Given the description of an element on the screen output the (x, y) to click on. 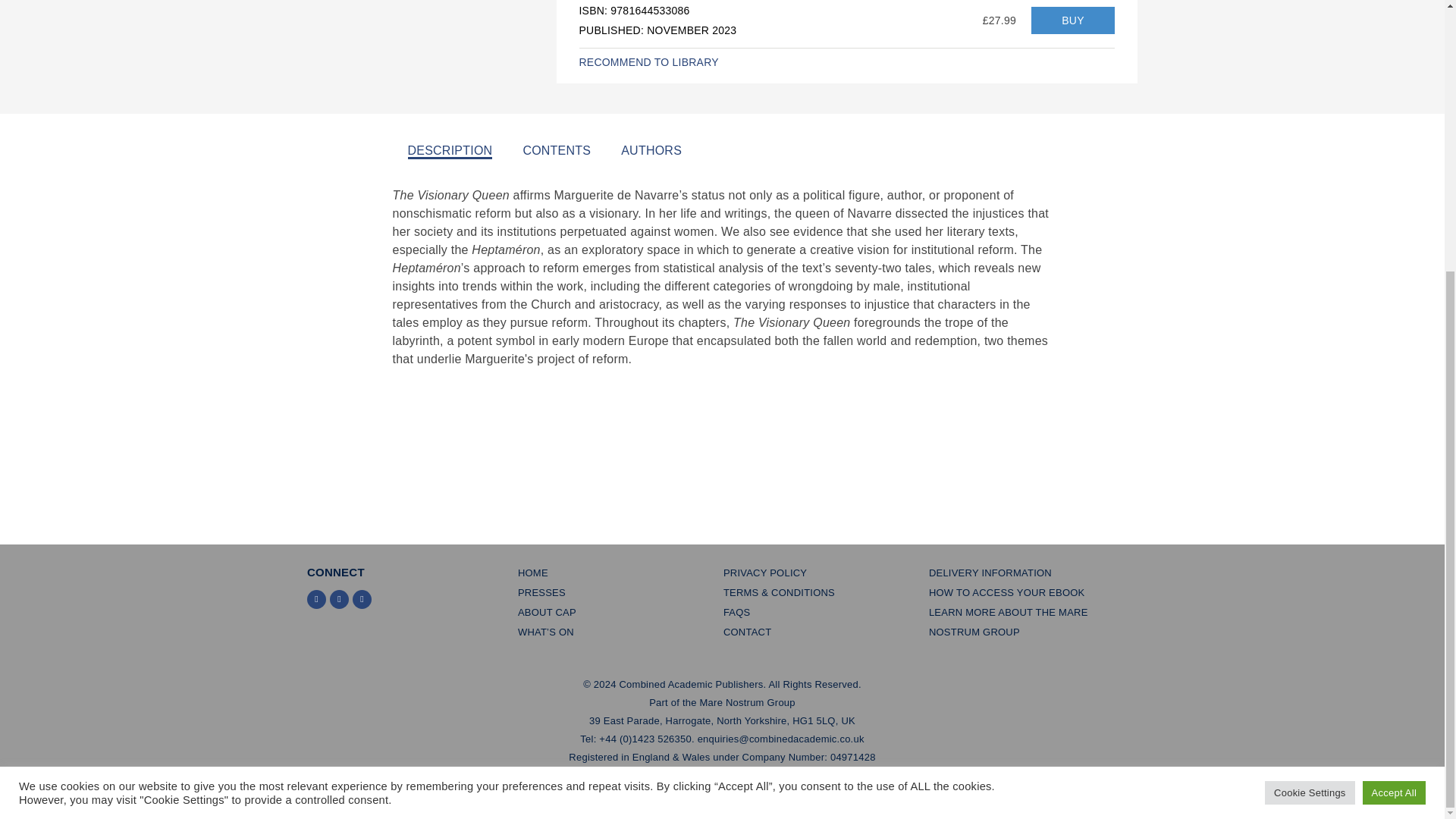
Follow us on Instagram (361, 599)
Follow us on Facebook (339, 599)
The Visionary Queen (1072, 20)
Recommend to Library (649, 61)
